Given the description of an element on the screen output the (x, y) to click on. 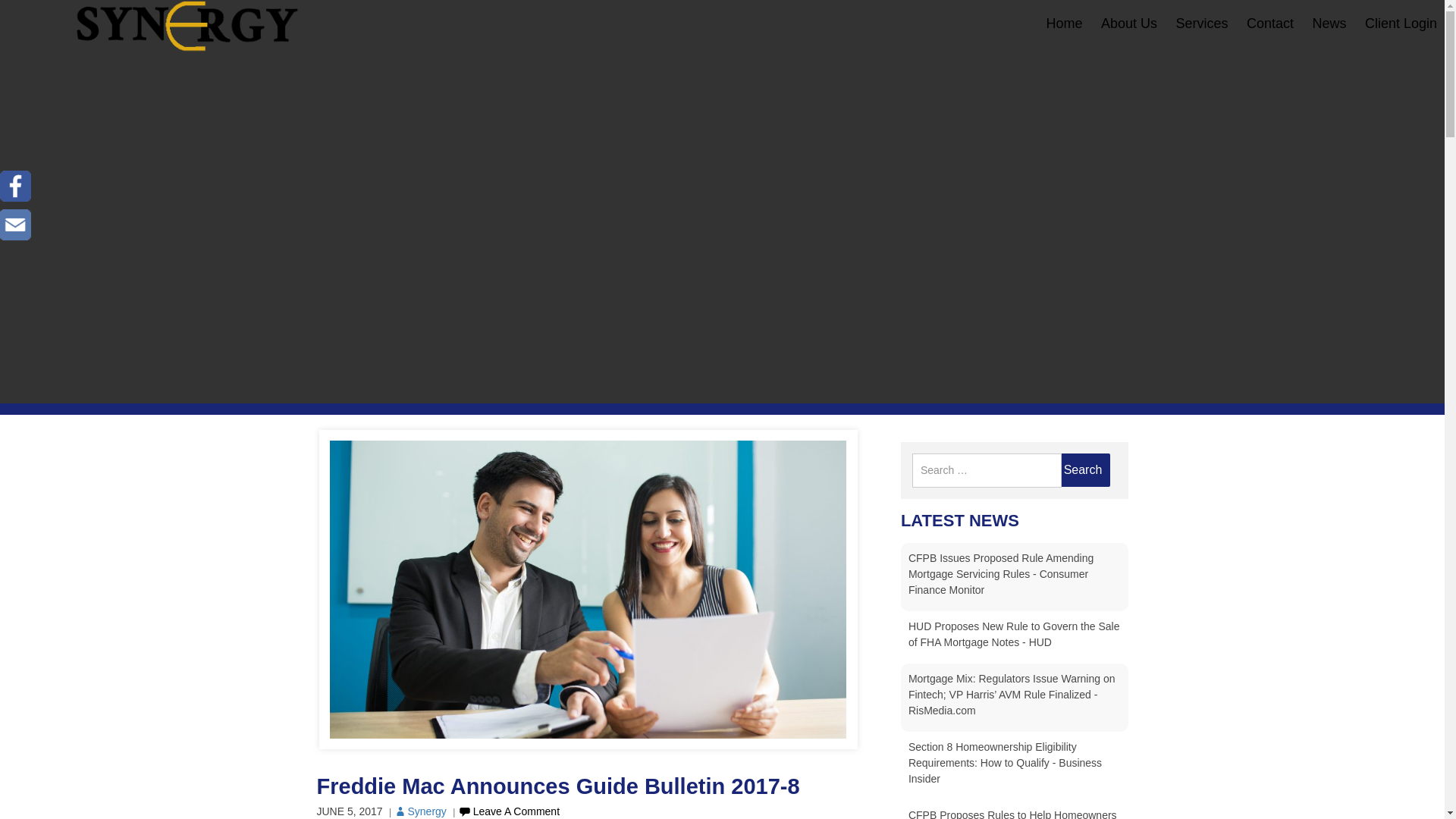
Search (1082, 469)
Leave A Comment (508, 811)
Contact (1270, 23)
Synergy (419, 811)
Home (1064, 23)
Services (1200, 23)
About Us (1128, 23)
Search (1082, 469)
News (1328, 23)
Client Login (1401, 23)
